Given the description of an element on the screen output the (x, y) to click on. 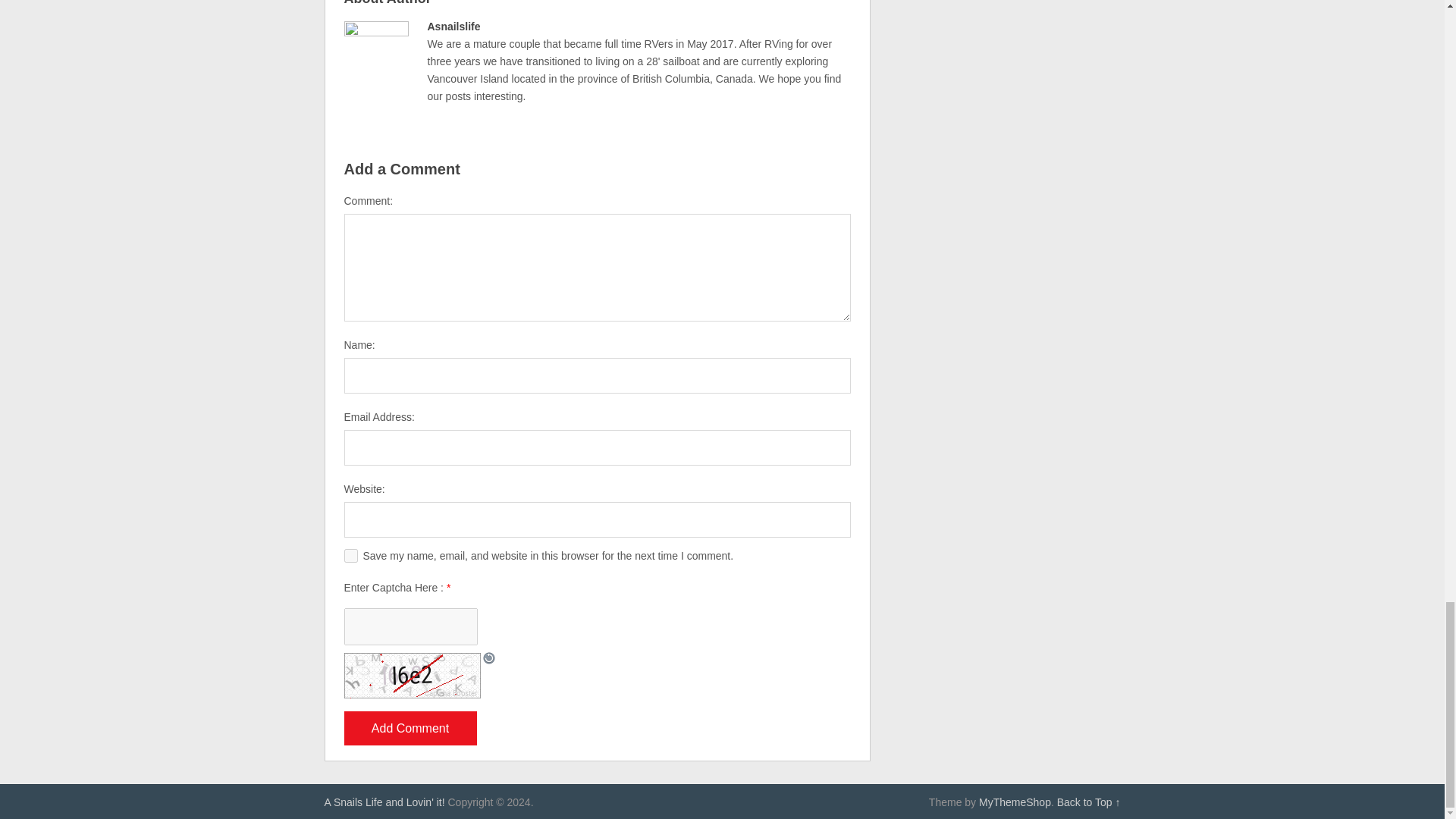
Add Comment (410, 728)
A couple and their 2 dogs enjoying retirement life. (384, 802)
Add Comment (410, 728)
yes (350, 555)
